Given the description of an element on the screen output the (x, y) to click on. 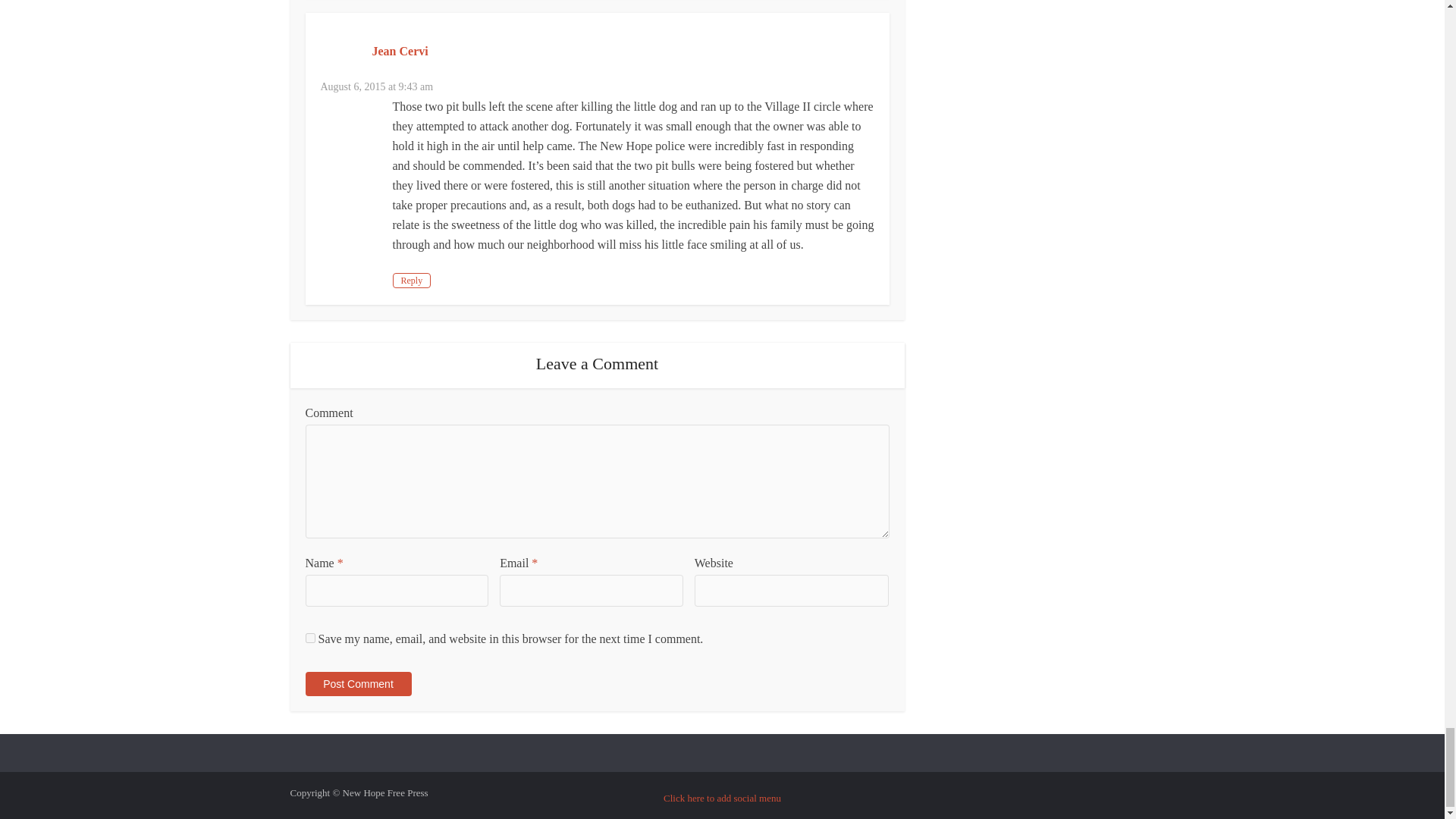
yes (309, 637)
Post Comment (357, 683)
